Given the description of an element on the screen output the (x, y) to click on. 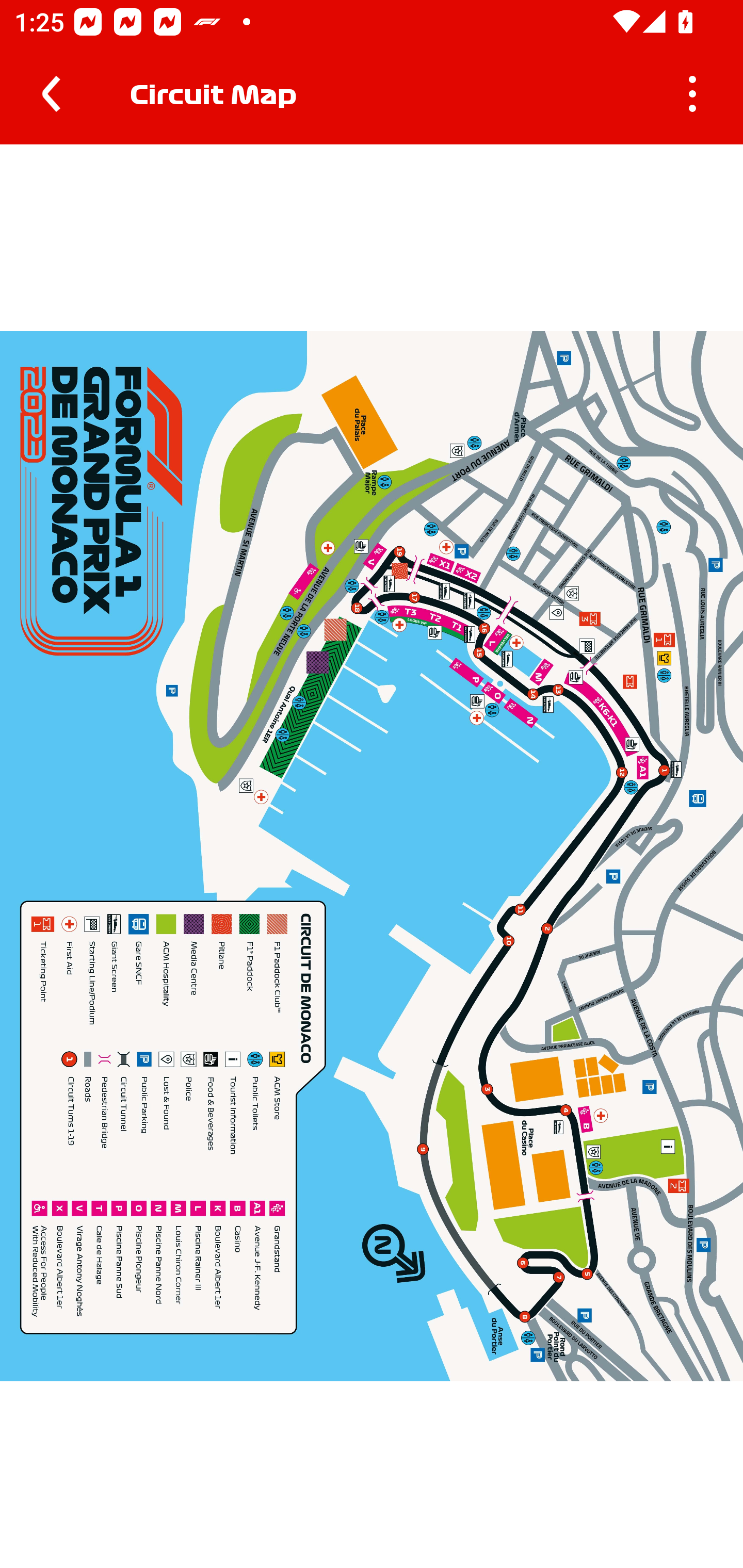
Navigate up (50, 93)
